Given the description of an element on the screen output the (x, y) to click on. 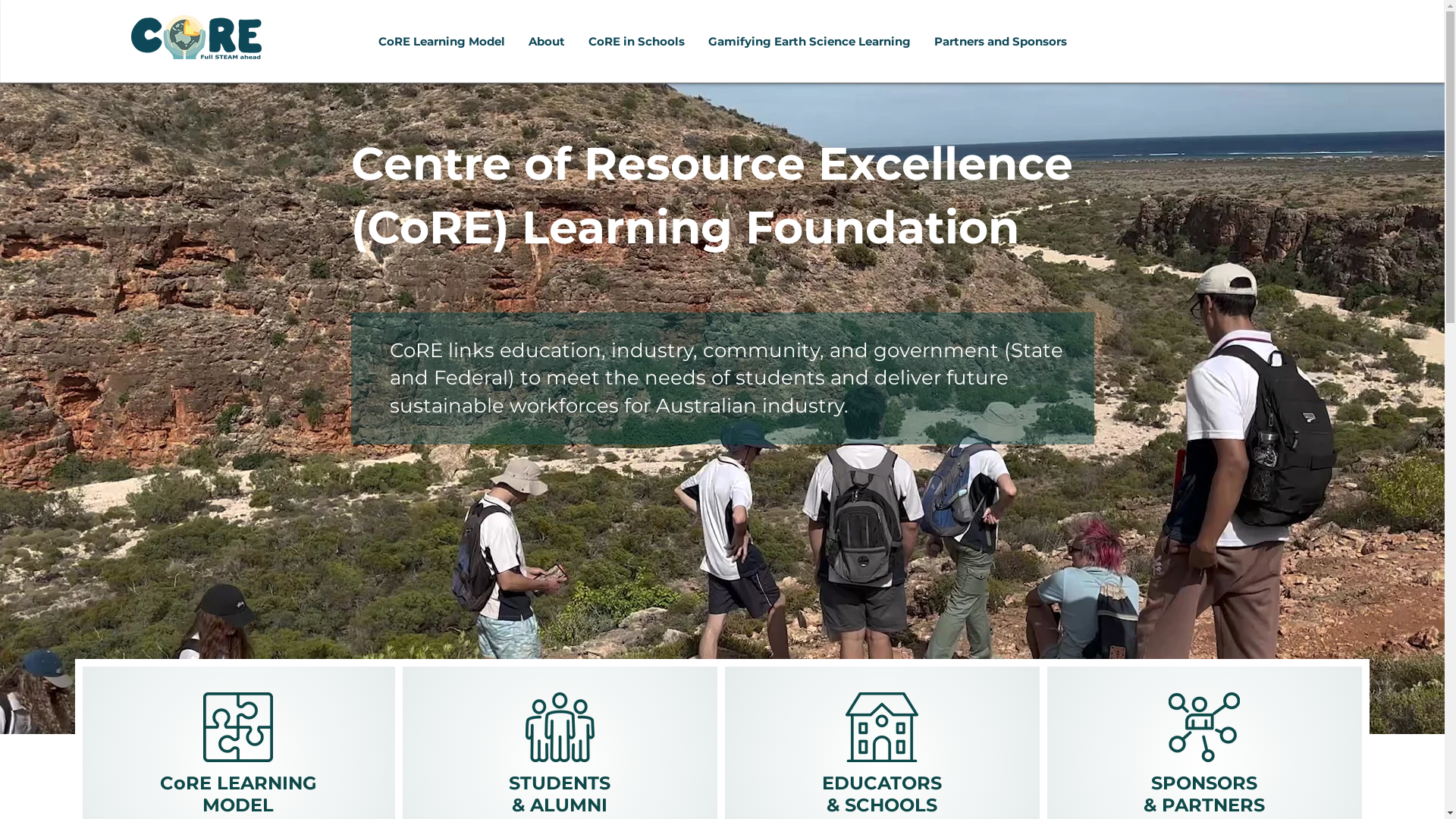
EDUCATORS Element type: text (881, 782)
SPONSORS &  Element type: text (1200, 793)
CoRE Learning Model Element type: text (441, 41)
& SCHOOLS Element type: text (881, 804)
About Element type: text (546, 41)
PARTNERS Element type: text (1212, 804)
STUDENTS
& ALUMNI Element type: text (559, 793)
CoRE in Schools Element type: text (636, 41)
CoRE LEARNING MODEL Element type: text (238, 793)
Partners and Sponsors Element type: text (1000, 41)
Gamifying Earth Science Learning Element type: text (809, 41)
